Given the description of an element on the screen output the (x, y) to click on. 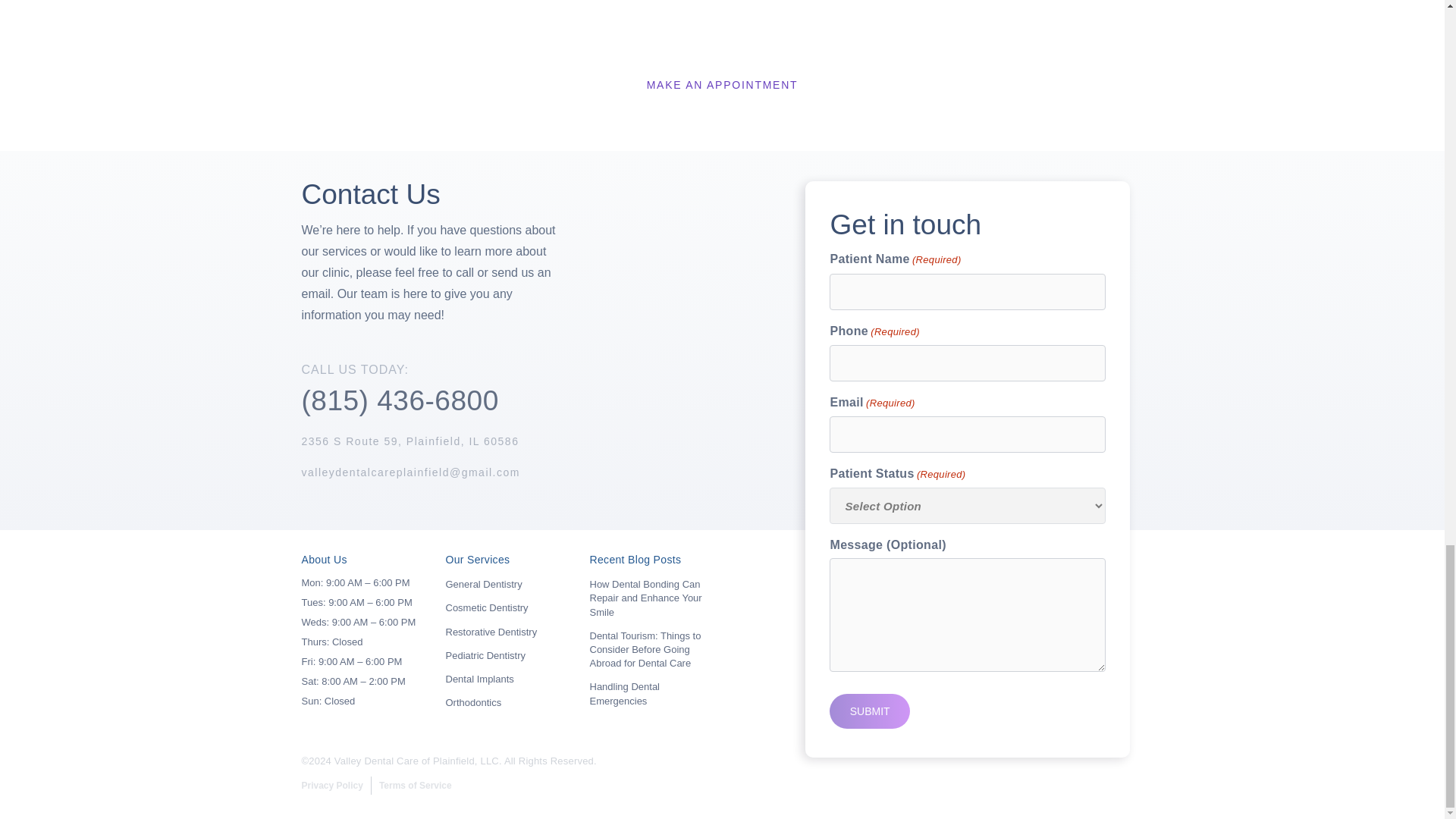
MAKE AN APPOINTMENT (721, 85)
How Dental Bonding Can Repair and Enhance Your Smile (645, 597)
Restorative Dentistry (491, 632)
Pediatric Dentistry (485, 655)
Submit (868, 710)
Cosmetic Dentistry (486, 607)
Dental Implants (479, 678)
Submit (868, 710)
General Dentistry (483, 583)
